Given the description of an element on the screen output the (x, y) to click on. 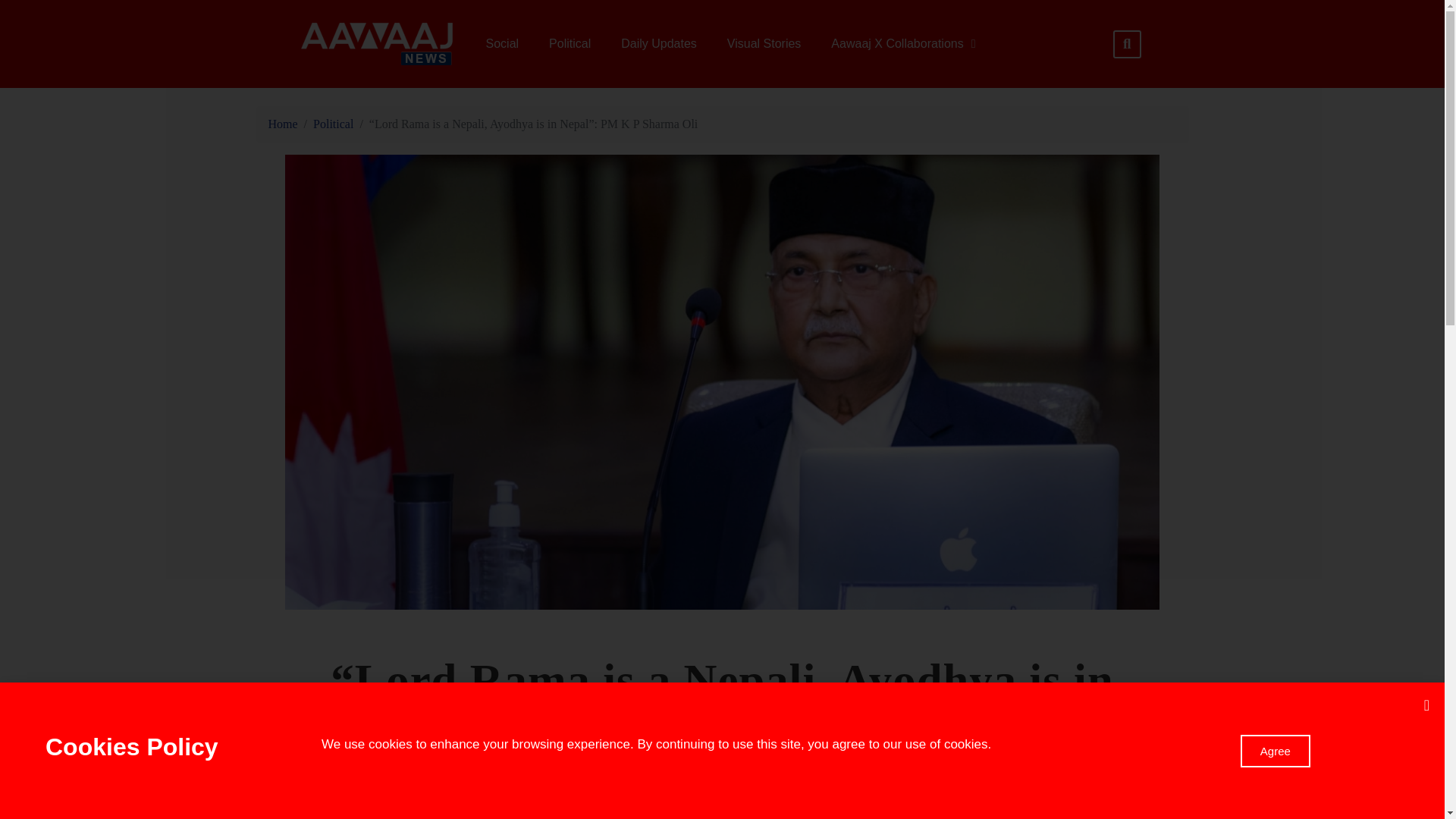
Home (282, 123)
Daily Updates (658, 43)
Social (502, 43)
Aawaaj X Collaborations (902, 43)
Visual Stories (763, 43)
Political (333, 123)
Agree (1275, 749)
Political (569, 43)
